Given the description of an element on the screen output the (x, y) to click on. 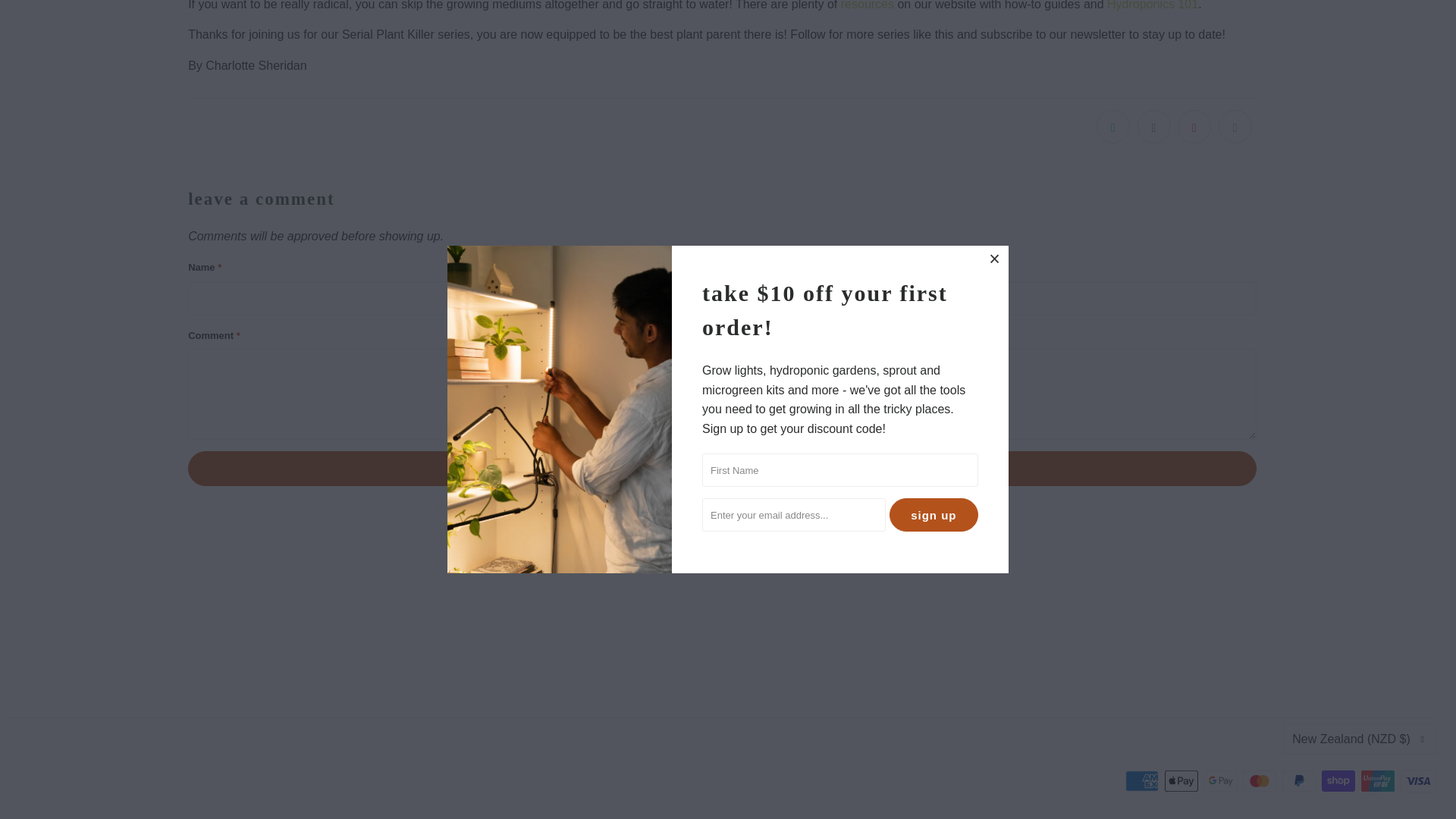
Apple Pay (1182, 780)
Mastercard (1261, 780)
Google Pay (1222, 780)
PayPal (1300, 780)
American Express (1143, 780)
Visa (1418, 780)
Union Pay (1379, 780)
Shop Pay (1340, 780)
